Given the description of an element on the screen output the (x, y) to click on. 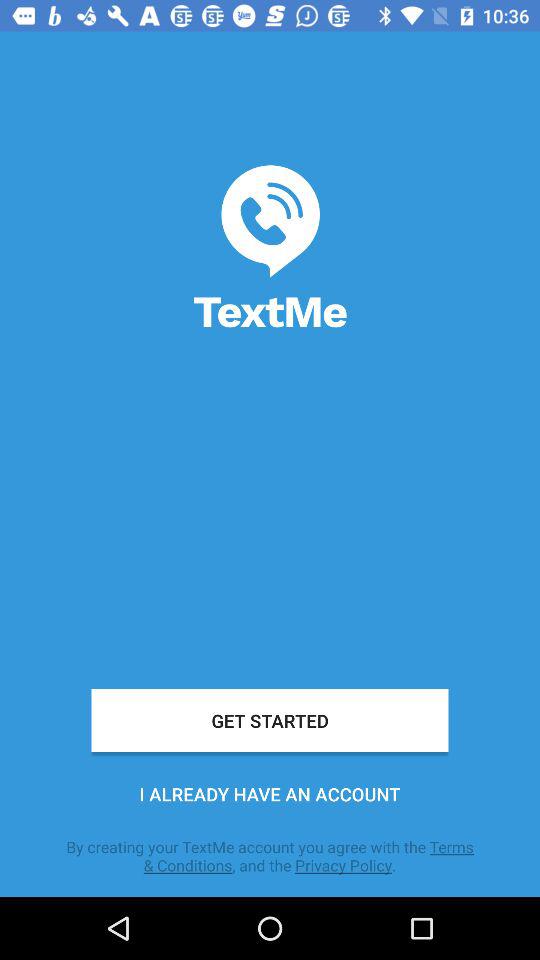
press the get started icon (269, 720)
